Given the description of an element on the screen output the (x, y) to click on. 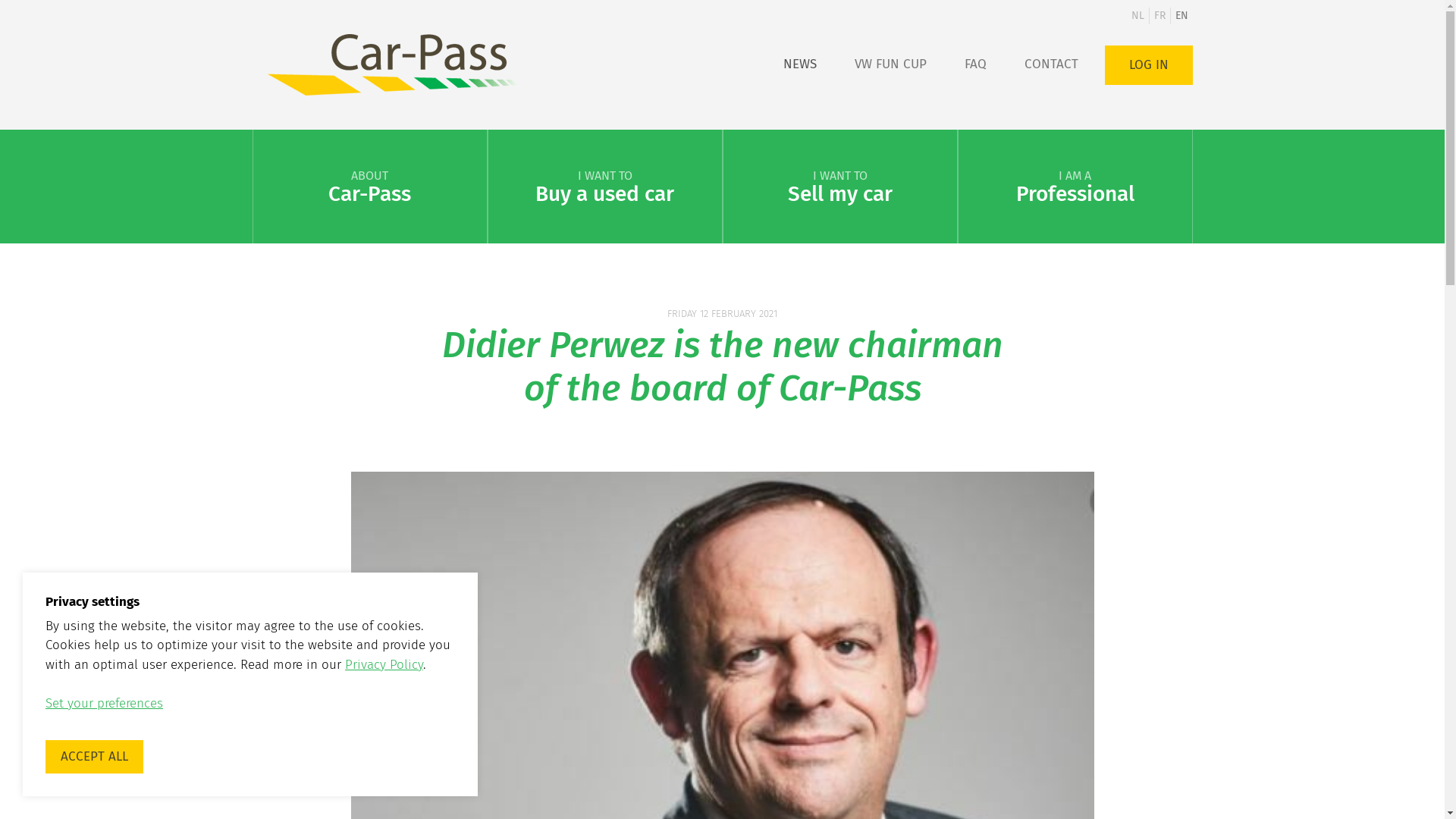
EN Element type: text (1181, 15)
FAQ Element type: text (975, 63)
I WANT TO
Buy a used car Element type: text (604, 186)
FR Element type: text (1159, 15)
I AM A
Professional Element type: text (1075, 186)
NEWS Element type: text (798, 63)
NL Element type: text (1137, 15)
CONTACT Element type: text (1050, 63)
ACCEPT ALL Element type: text (94, 756)
VW FUN CUP Element type: text (889, 63)
ABOUT
Car-Pass Element type: text (369, 186)
LOG IN Element type: text (1148, 64)
I WANT TO
Sell my car Element type: text (840, 186)
Privacy Policy Element type: text (384, 664)
Set your preferences Element type: text (104, 703)
